Given the description of an element on the screen output the (x, y) to click on. 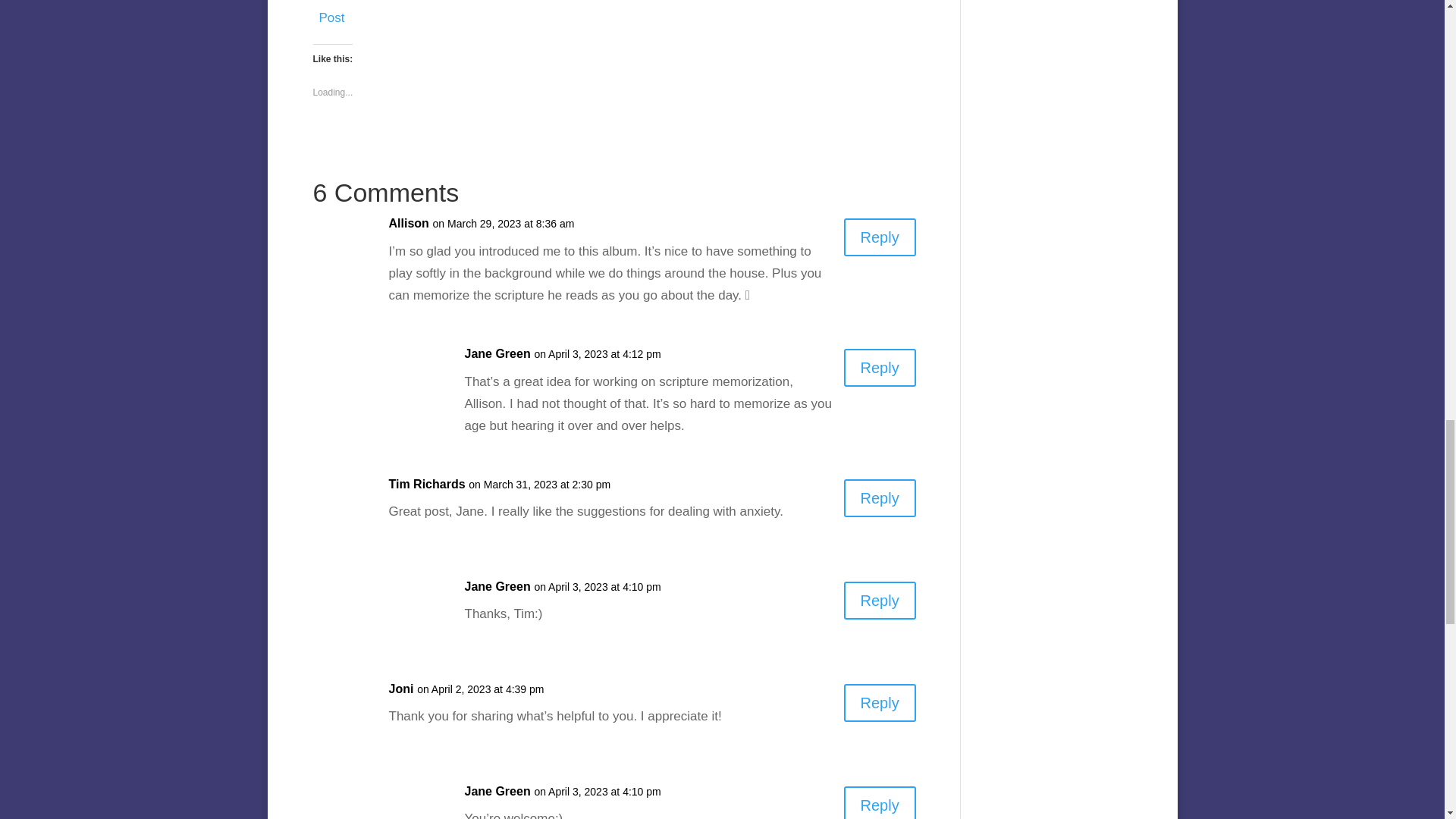
Reply (879, 702)
Tim Richards (426, 485)
Reply (879, 237)
Reply (879, 802)
Reply (879, 367)
Joni (400, 689)
Post (330, 15)
Reply (879, 497)
Reply (879, 600)
Allison (408, 223)
